Given the description of an element on the screen output the (x, y) to click on. 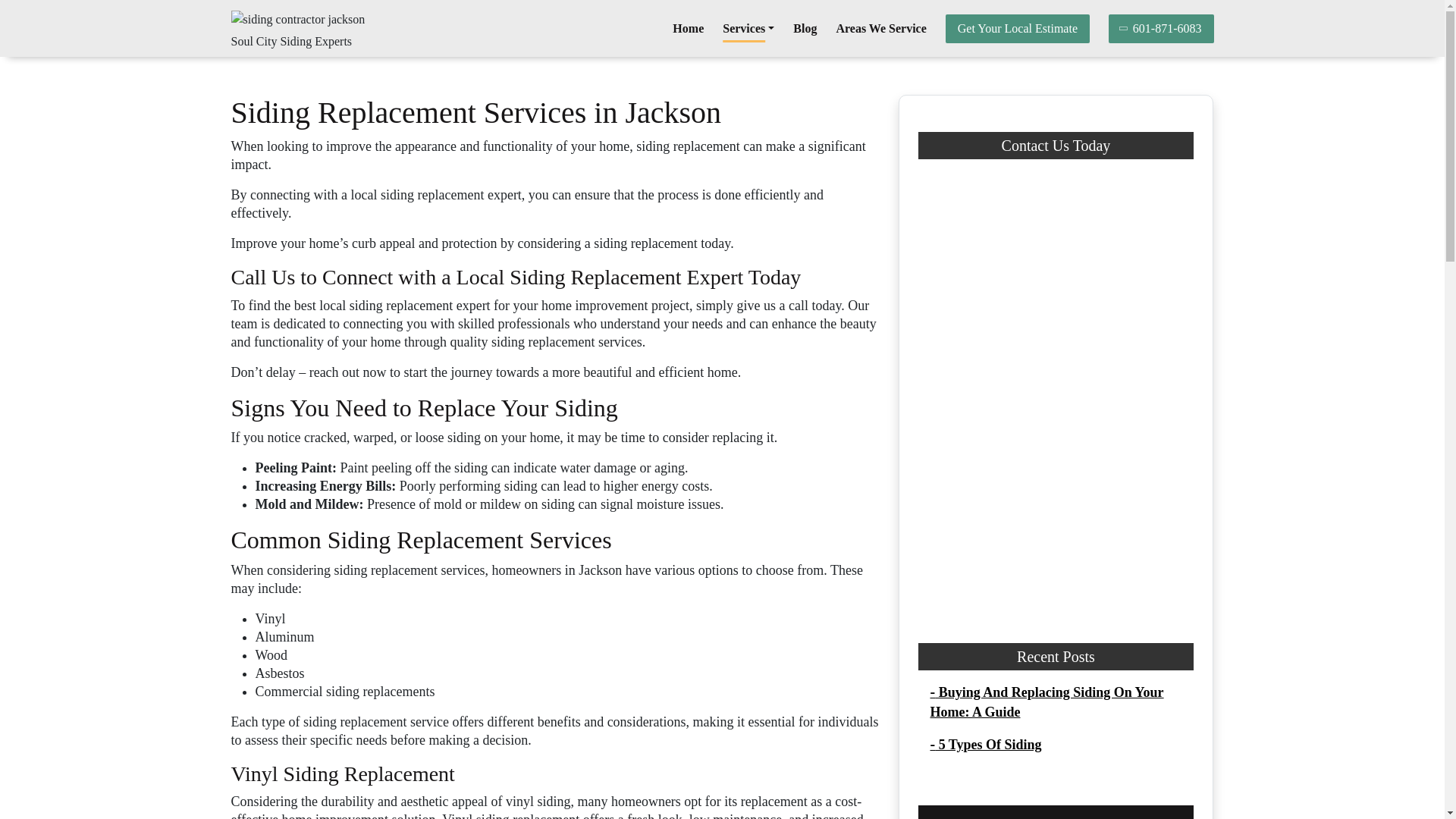
Services (748, 28)
Home (687, 28)
601-871-6083 (1161, 28)
Soul City Siding Experts (291, 41)
Areas We Service (880, 28)
Home (687, 28)
Services (748, 28)
Areas We Service (880, 28)
- 5 Types Of Siding (985, 744)
- Buying And Replacing Siding On Your Home: A Guide (1046, 701)
Get Your Local Estimate (1016, 28)
